Given the description of an element on the screen output the (x, y) to click on. 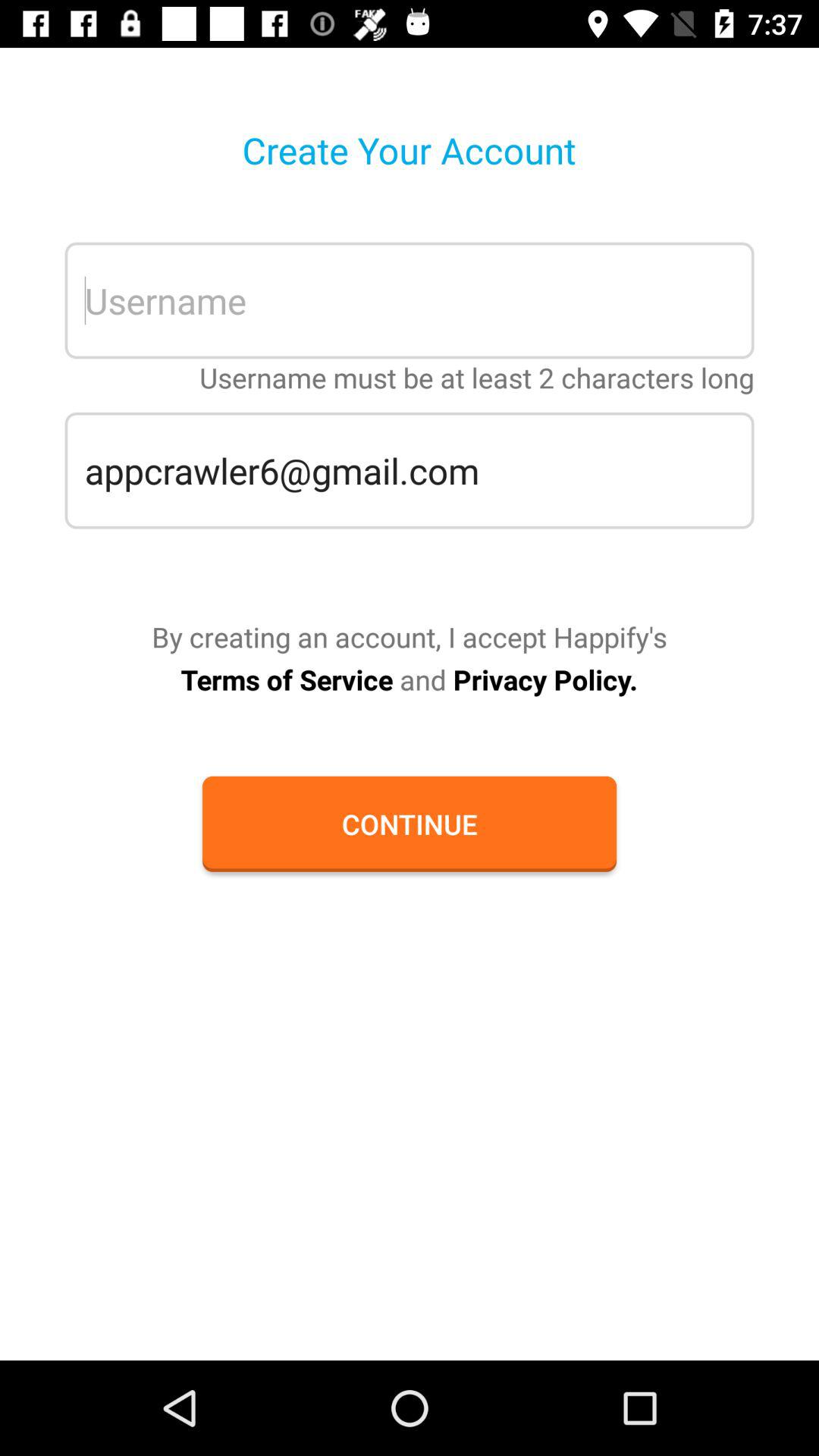
launch the continue (409, 823)
